Given the description of an element on the screen output the (x, y) to click on. 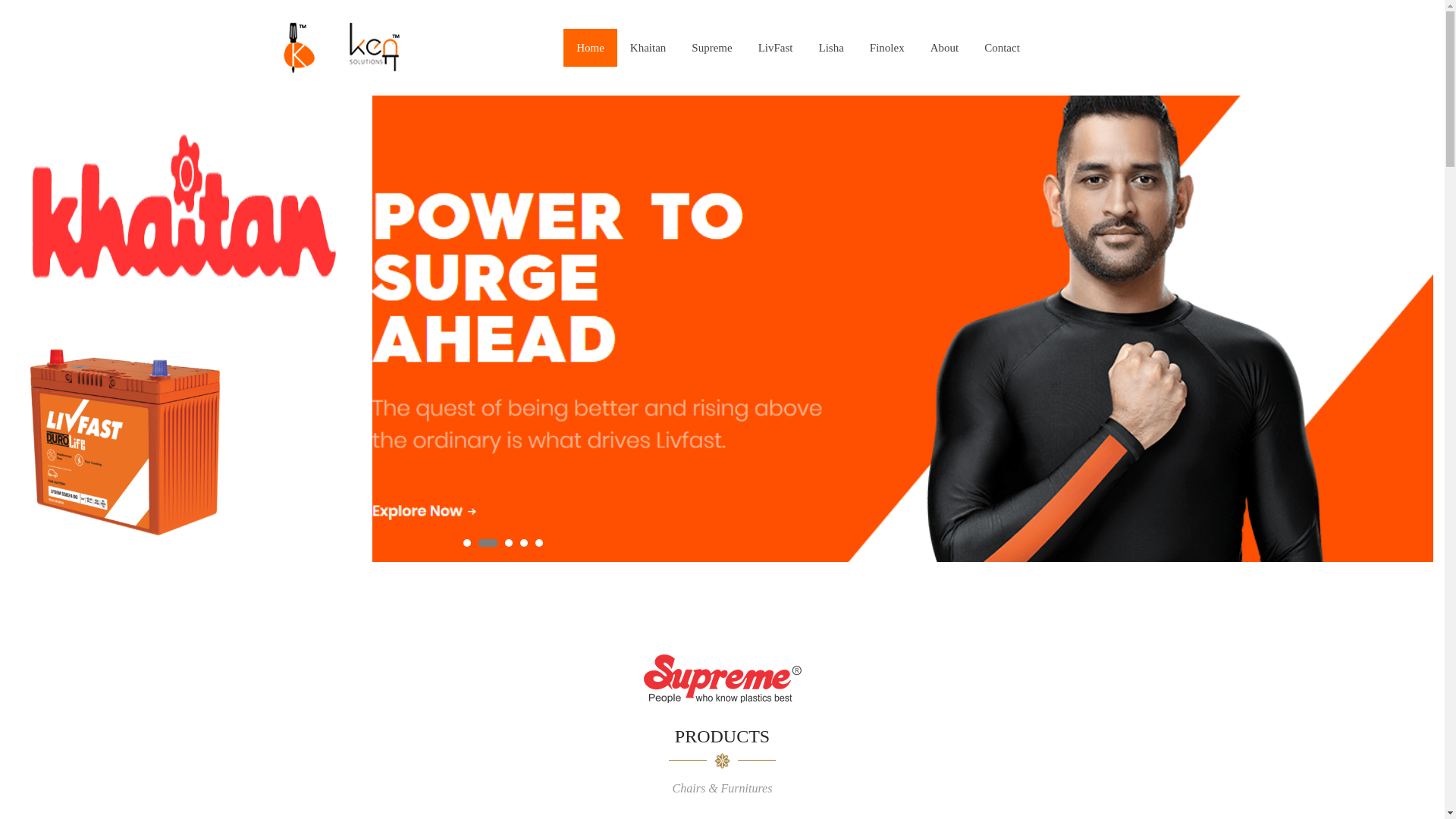
Finolex (887, 47)
Khaitan (647, 47)
Supreme (711, 47)
About (944, 47)
Home (590, 47)
LivFast (775, 47)
KEN Solutions (354, 47)
Lisha (830, 47)
Contact (1001, 47)
